Given the description of an element on the screen output the (x, y) to click on. 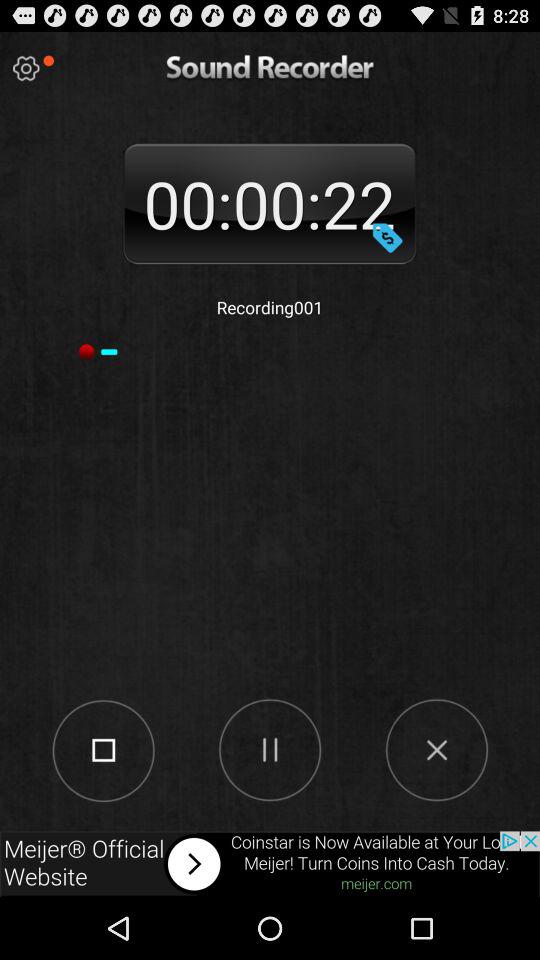
it is a play key (269, 749)
